Given the description of an element on the screen output the (x, y) to click on. 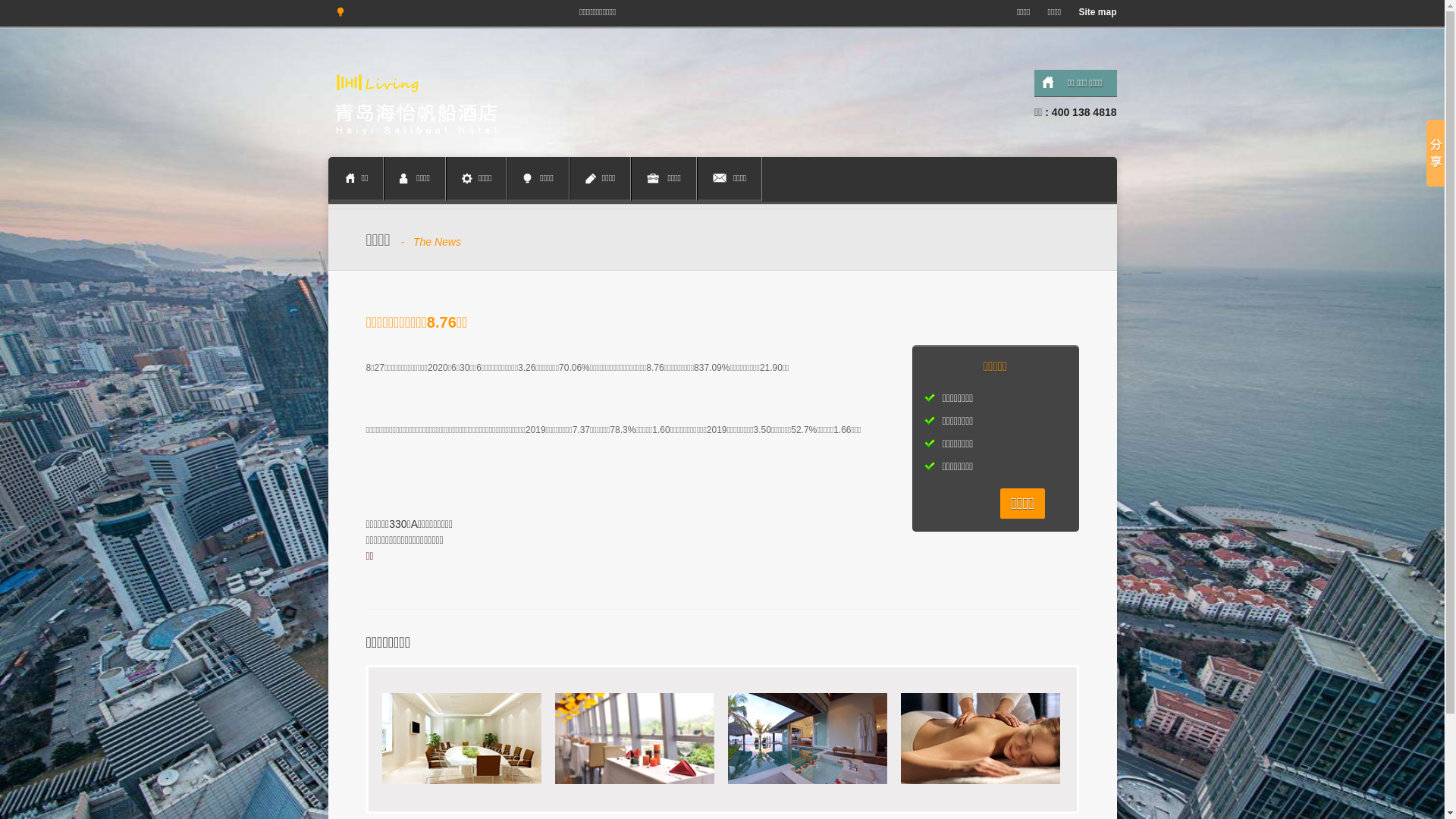
Site map Element type: text (1093, 11)
